Given the description of an element on the screen output the (x, y) to click on. 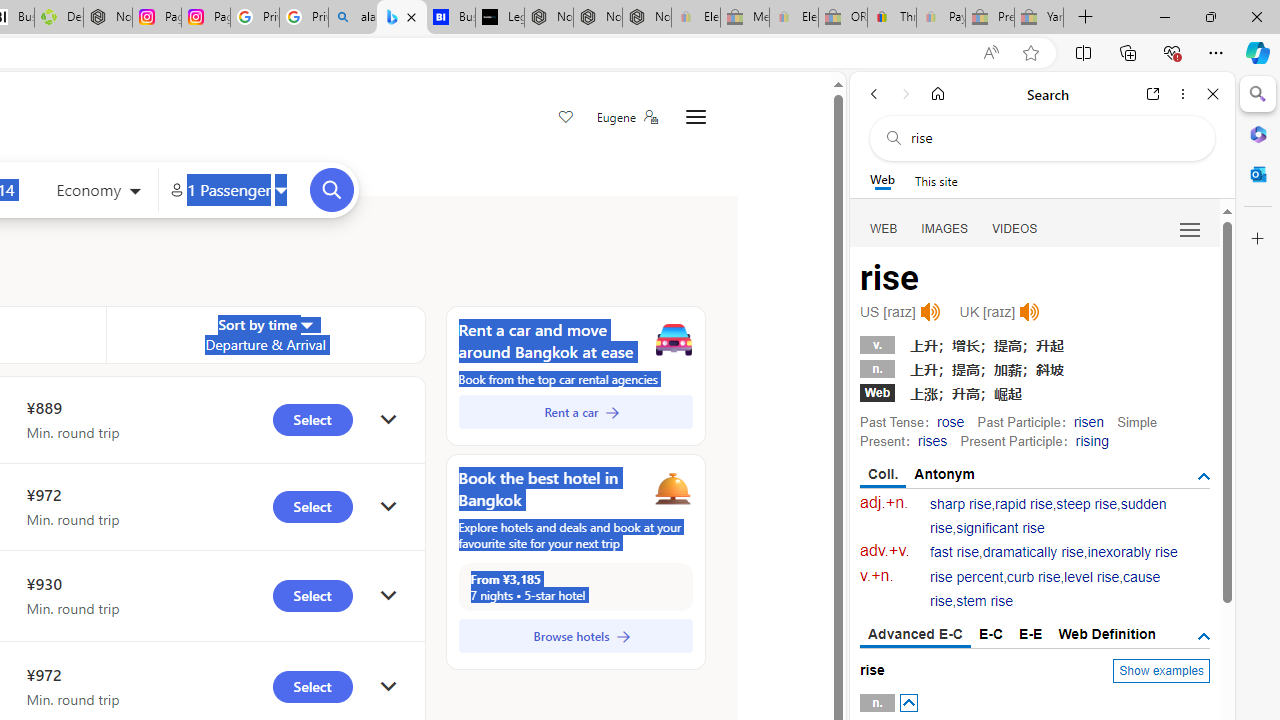
Eugene (626, 117)
rise percent (966, 577)
E-E (1030, 633)
Press Room - eBay Inc. - Sleeping (989, 17)
Yard, Garden & Outdoor Living - Sleeping (1039, 17)
WEB (884, 228)
Save (565, 118)
